Given the description of an element on the screen output the (x, y) to click on. 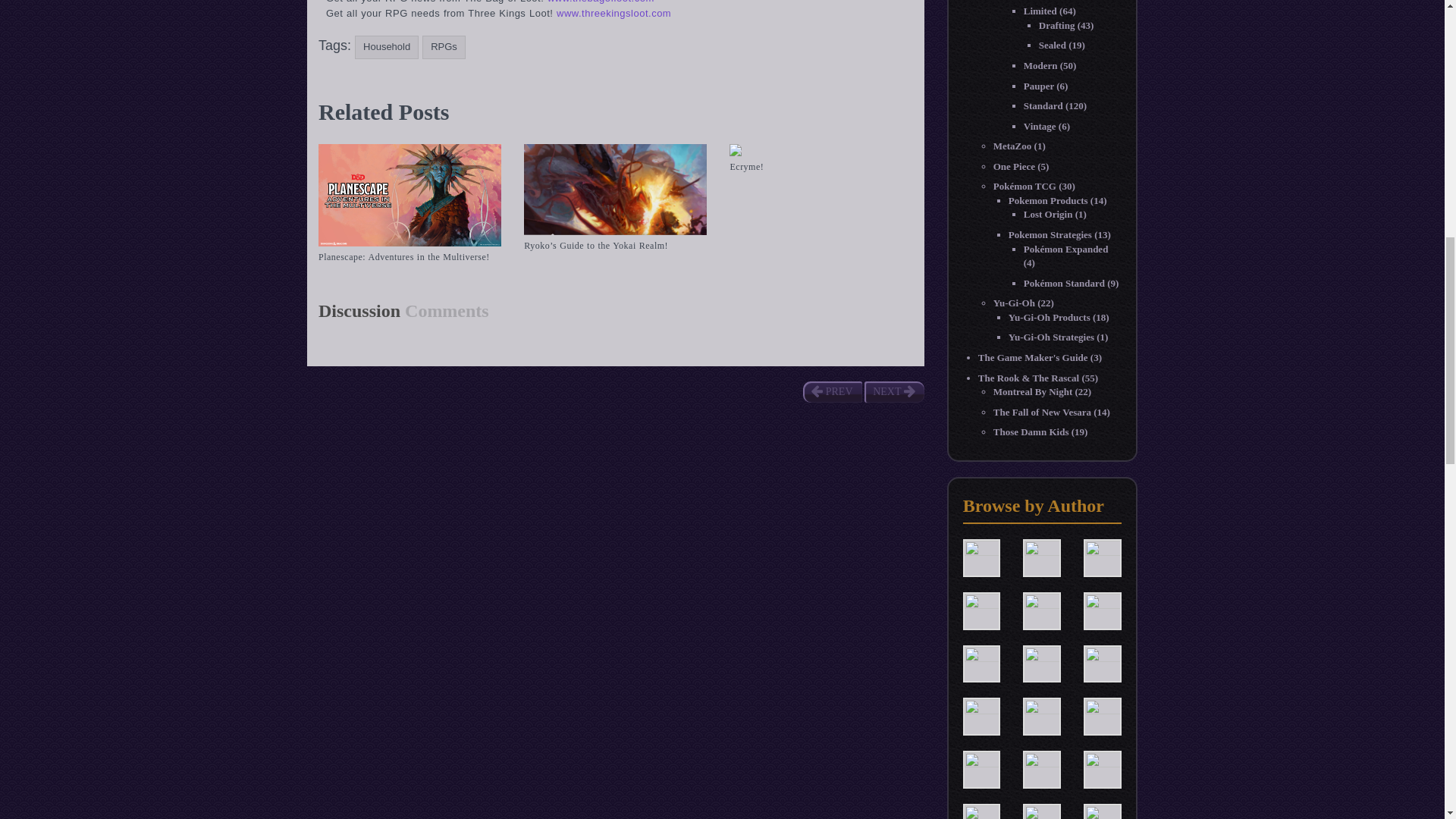
Eric Jeffrey Seltzer (1102, 609)
Household (387, 47)
Discussion Comments (403, 311)
Marc Olivier Plante (1042, 767)
Dan Erickson (1102, 556)
Gregoire Thibault (1102, 662)
www.thebagofloot.com (600, 2)
Bruce Gray (1042, 556)
Louis-Serge Gagne (981, 767)
NEXT (893, 391)
Joshua Olsen (1042, 715)
Norman Fried (981, 817)
Kyle A Massa (1102, 715)
Professor Bamboo (1042, 817)
Gerald Knight (1042, 662)
